Given the description of an element on the screen output the (x, y) to click on. 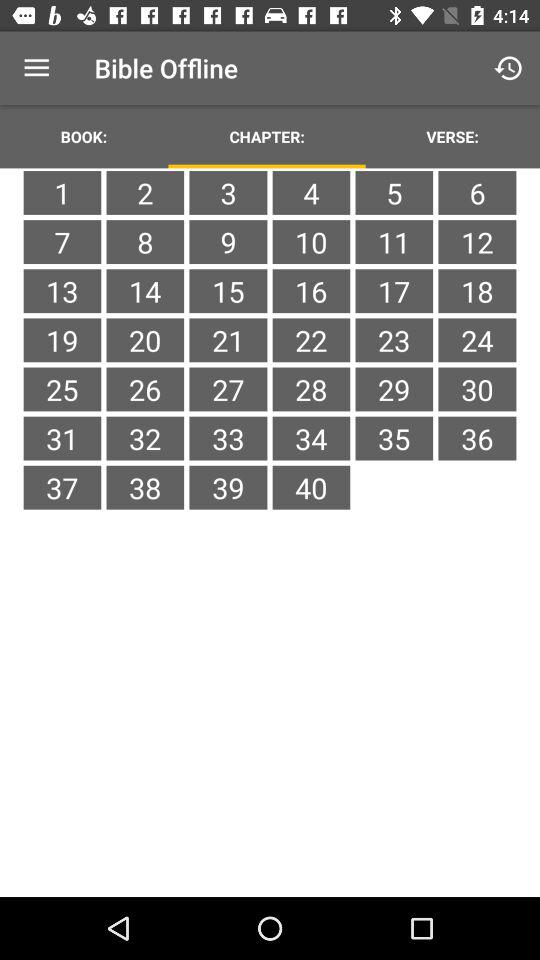
open the 11 icon (394, 242)
